Given the description of an element on the screen output the (x, y) to click on. 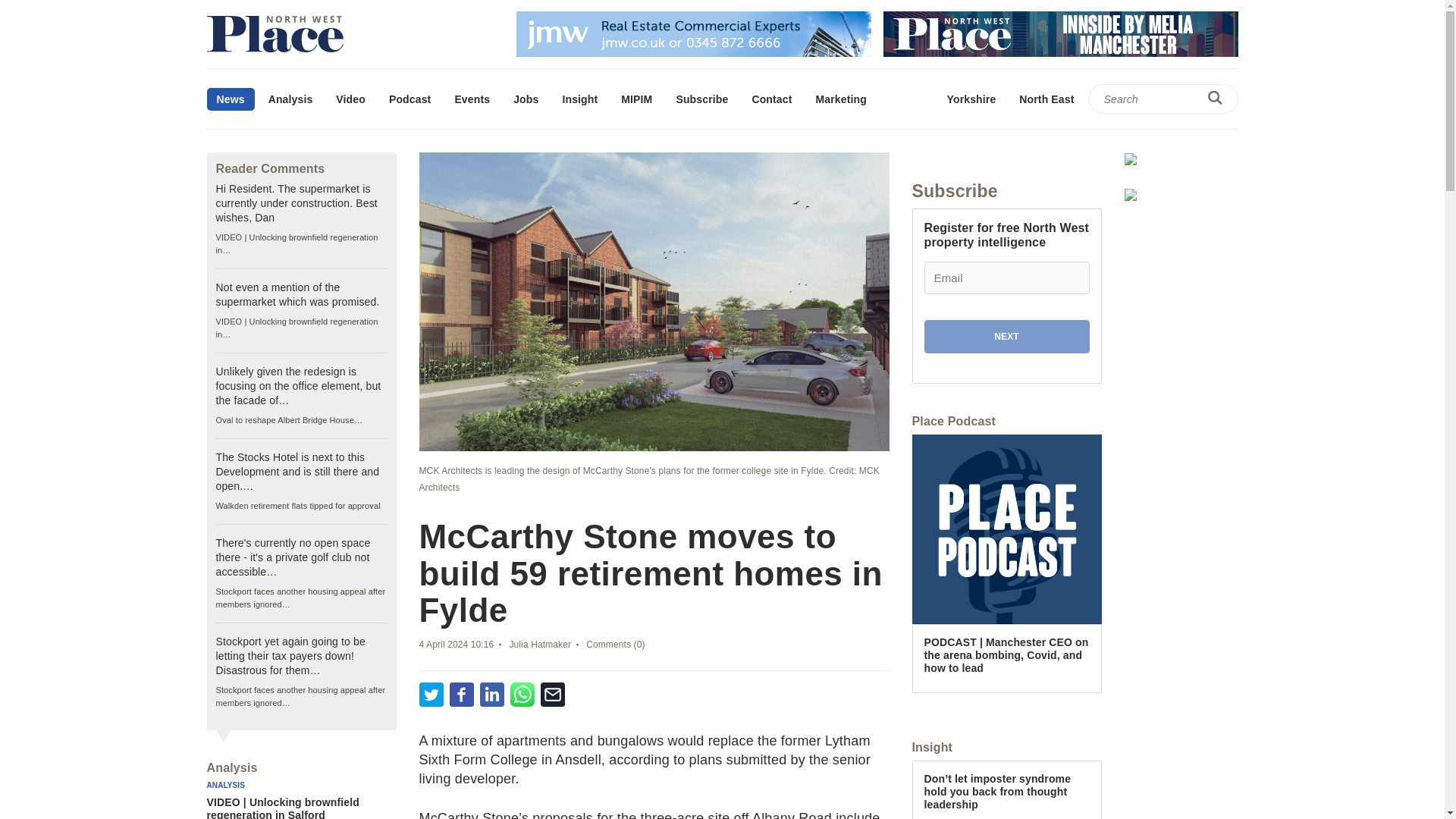
Analysis (291, 98)
News (229, 98)
Jobs (525, 98)
Insight (579, 98)
Share by Email (552, 695)
Events (471, 98)
Yorkshire (971, 98)
MIPIM (636, 98)
North East (1046, 98)
Share on WhatsApp (521, 695)
